Given the description of an element on the screen output the (x, y) to click on. 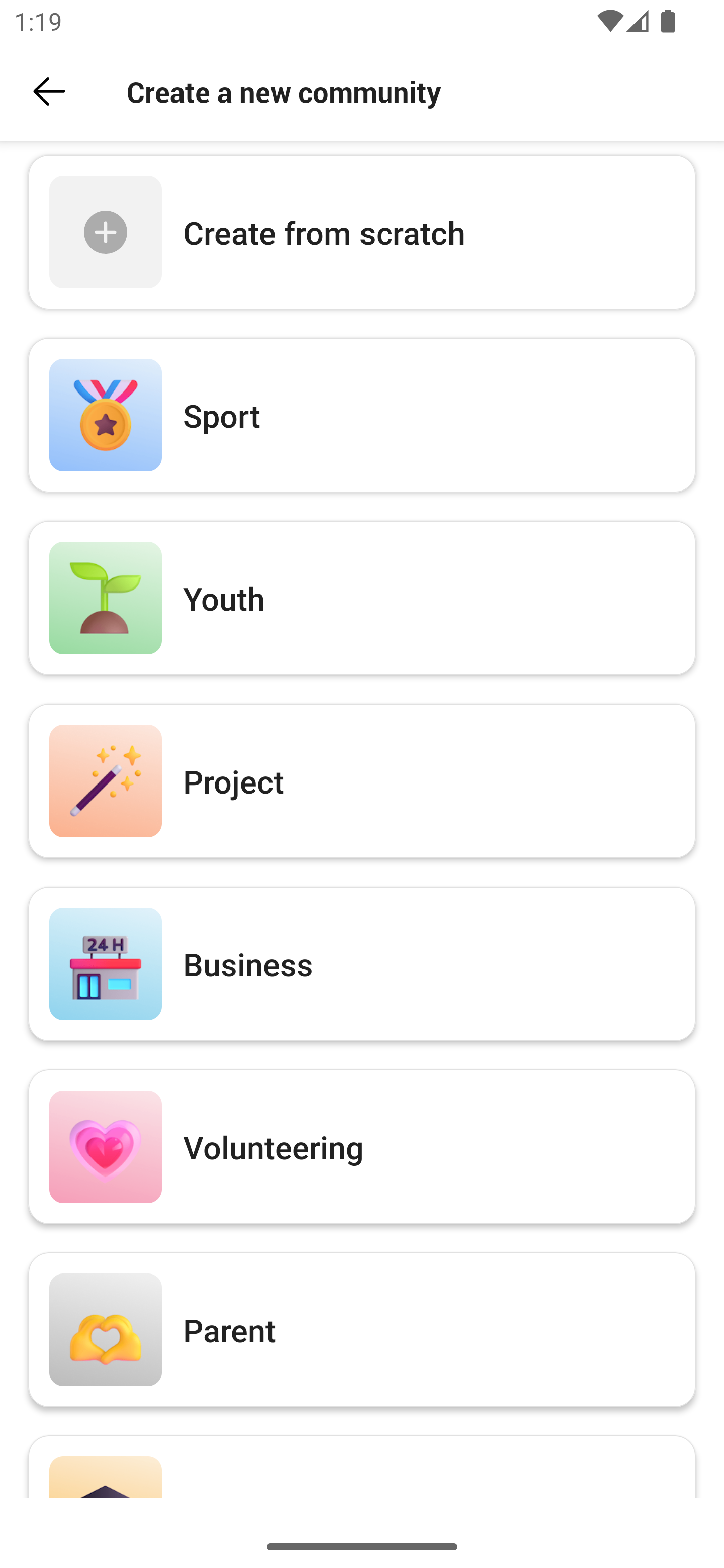
Back (49, 91)
Create from scratch (361, 231)
Sport (361, 414)
Youth (361, 597)
Project (361, 780)
Business (361, 963)
Volunteering (361, 1146)
Parent (361, 1329)
